Given the description of an element on the screen output the (x, y) to click on. 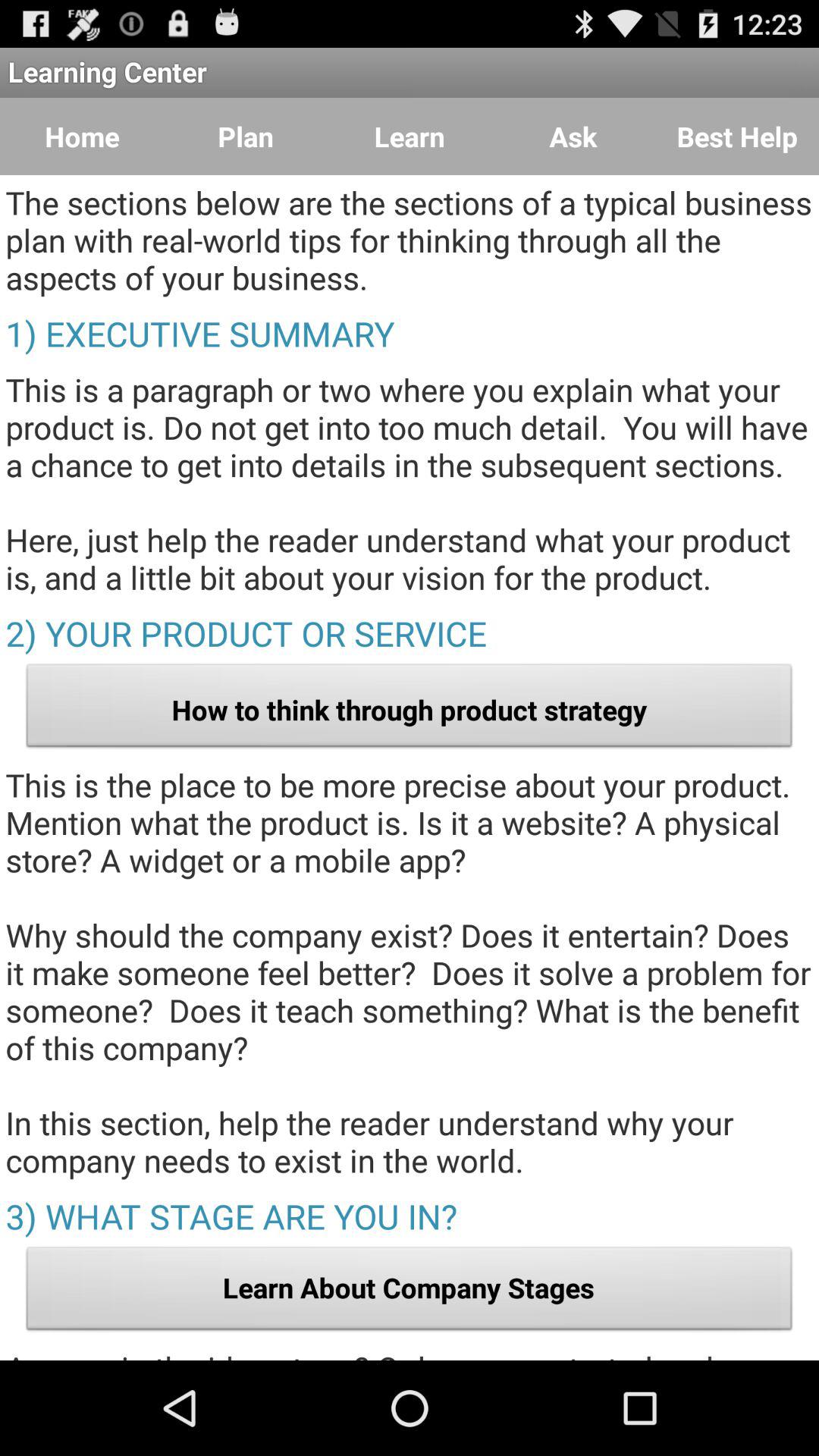
choose the item below 2 your product app (409, 709)
